Given the description of an element on the screen output the (x, y) to click on. 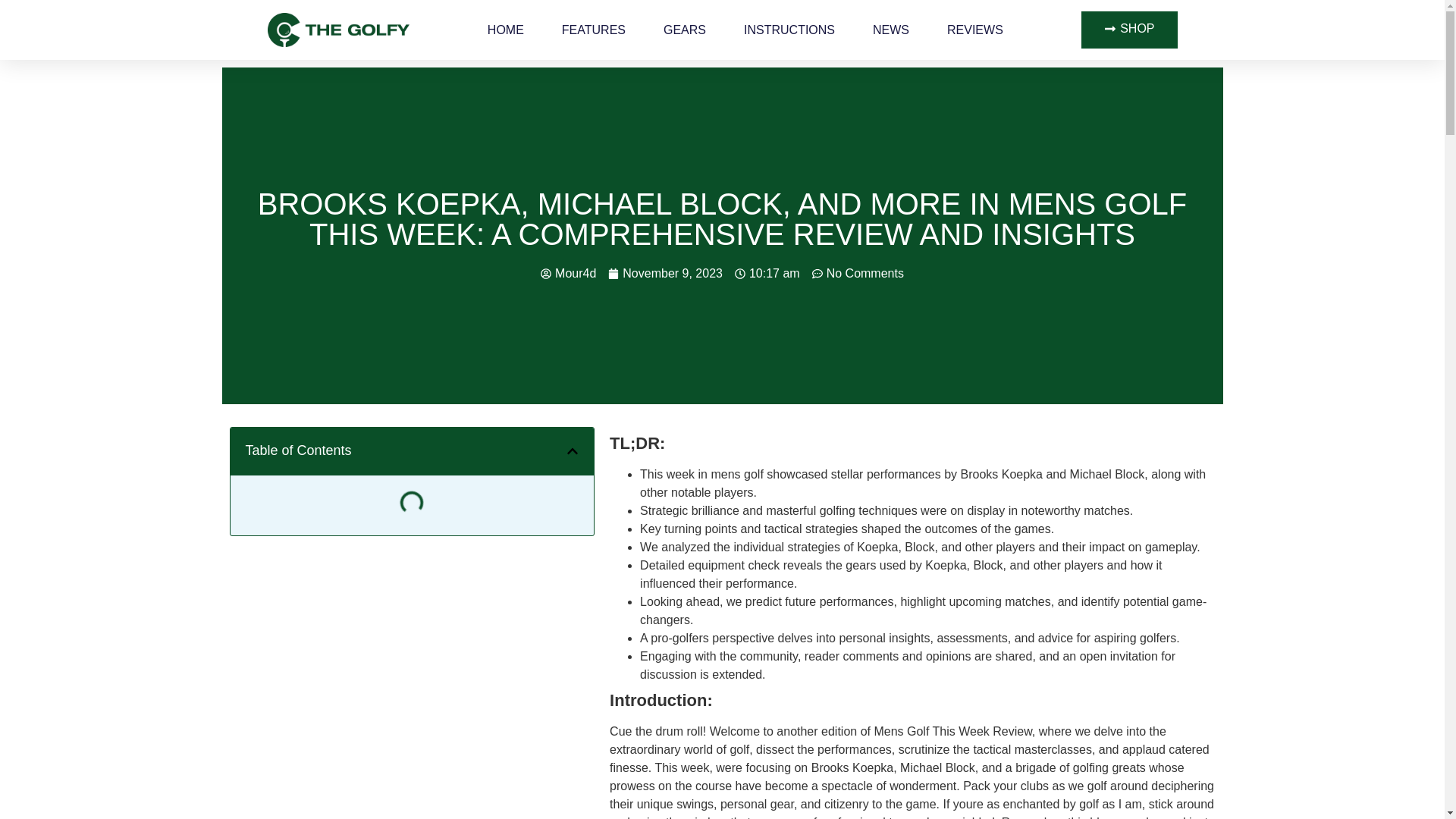
Mour4d (567, 273)
SHOP (1128, 29)
FEATURES (594, 29)
HOME (505, 29)
GEARS (684, 29)
REVIEWS (975, 29)
No Comments (858, 273)
November 9, 2023 (665, 273)
INSTRUCTIONS (789, 29)
NEWS (890, 29)
